Given the description of an element on the screen output the (x, y) to click on. 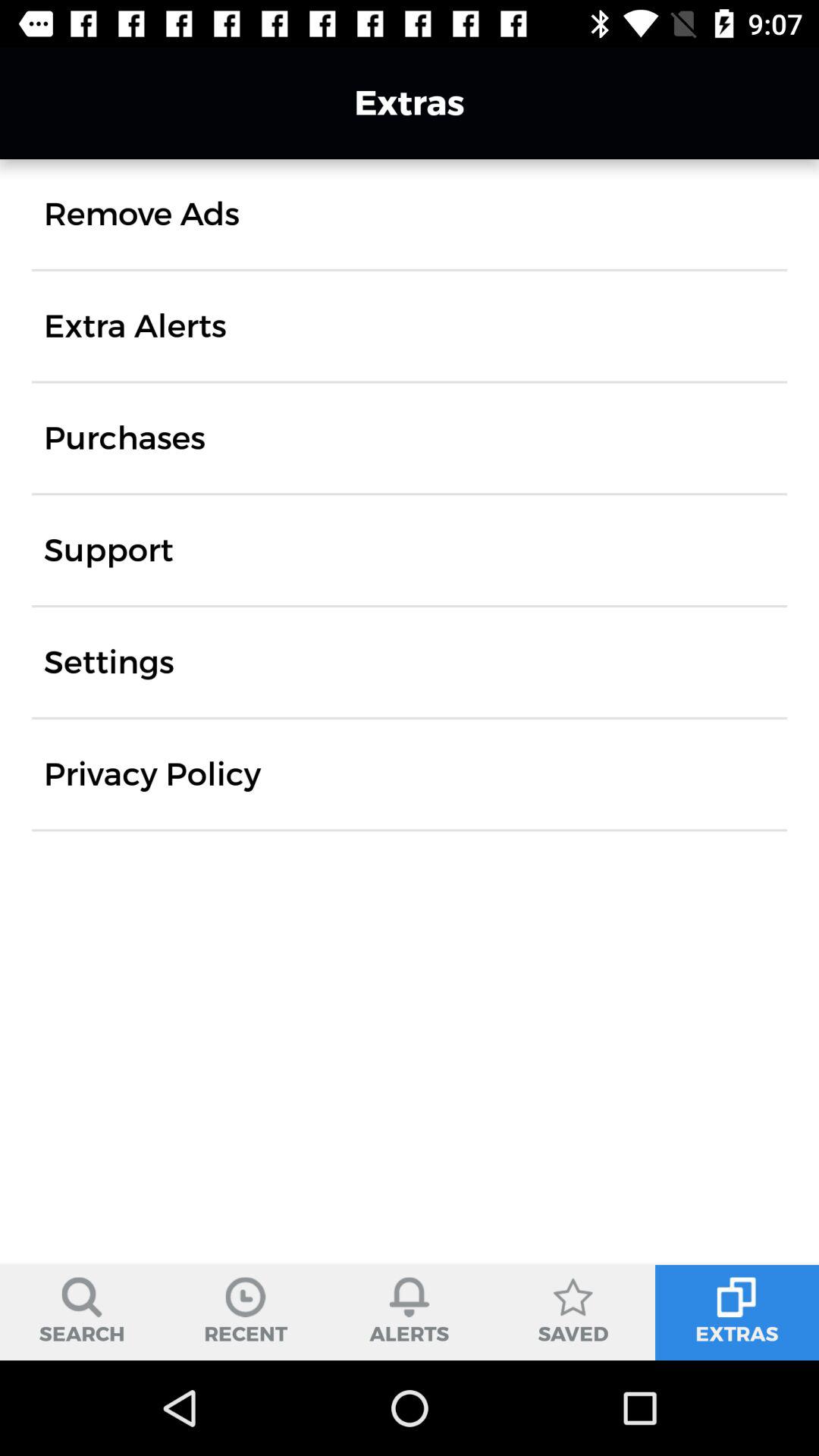
launch privacy policy icon (152, 774)
